Given the description of an element on the screen output the (x, y) to click on. 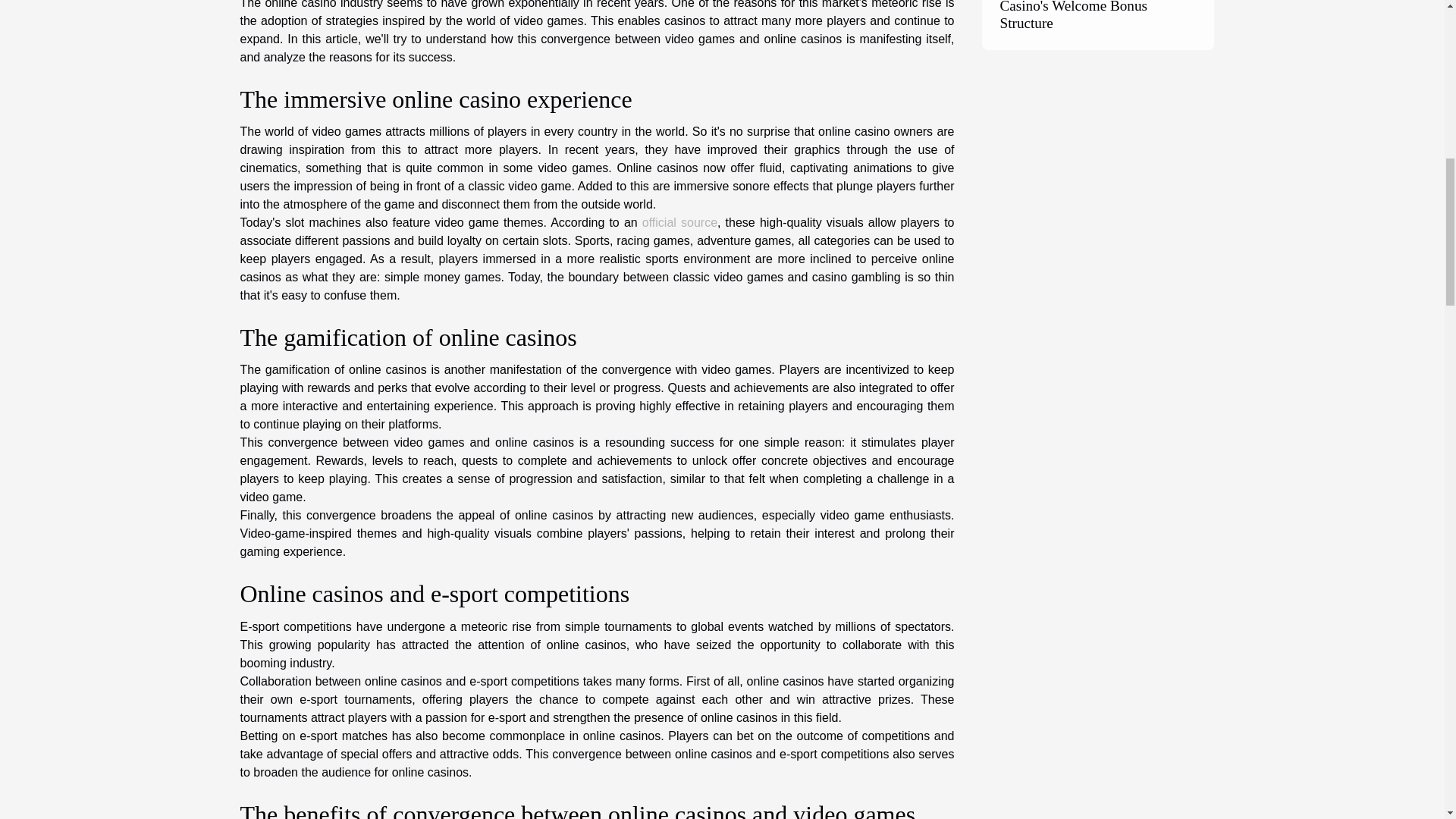
official source (679, 222)
